Given the description of an element on the screen output the (x, y) to click on. 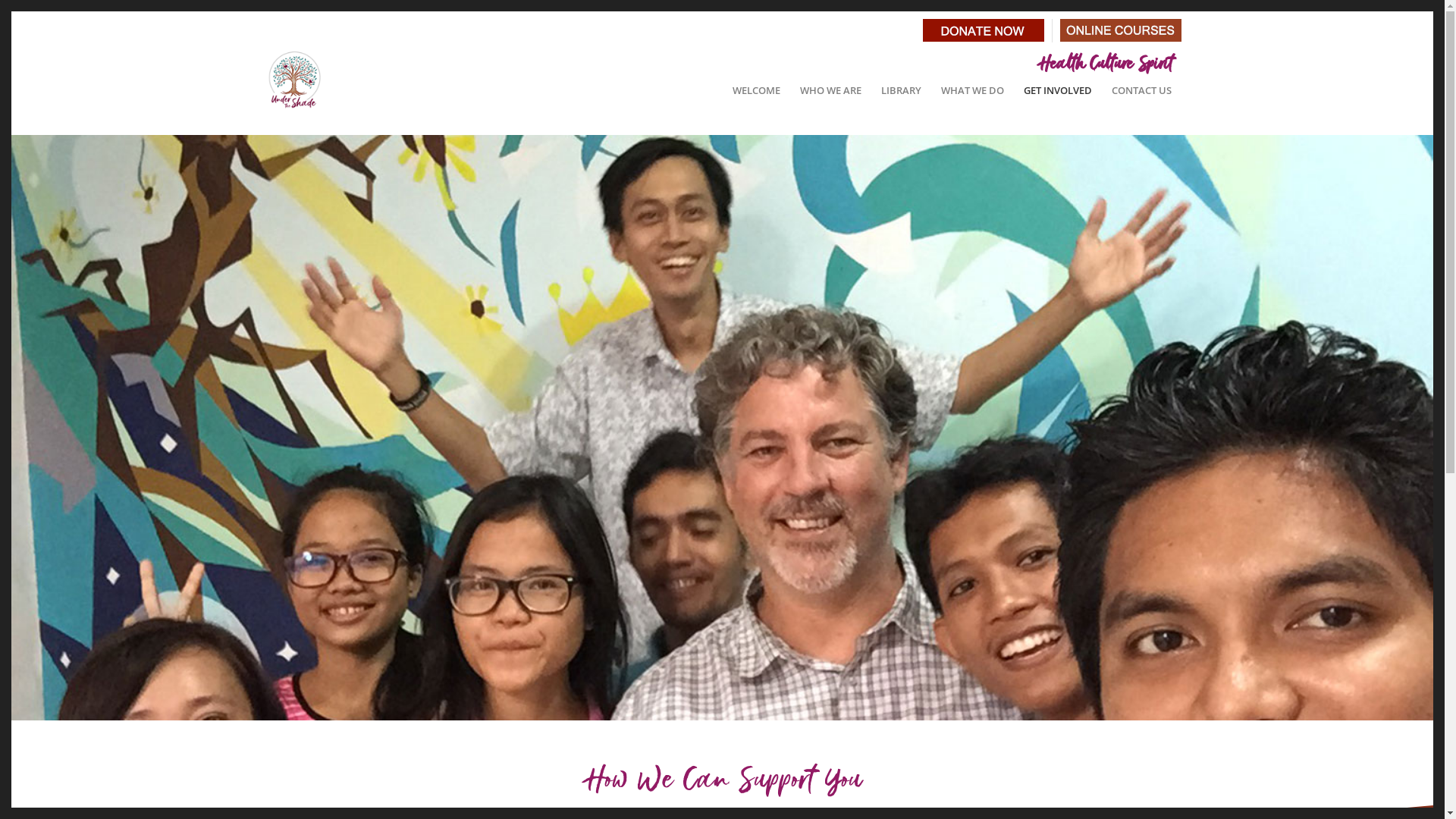
WELCOME Element type: text (755, 89)
LIBRARY Element type: text (900, 89)
Wayne-People-H1 Element type: hover (722, 421)
WHAT WE DO Element type: text (972, 89)
GET INVOLVED Element type: text (1057, 89)
WHO WE ARE Element type: text (830, 89)
CONTACT US Element type: text (1140, 89)
